Given the description of an element on the screen output the (x, y) to click on. 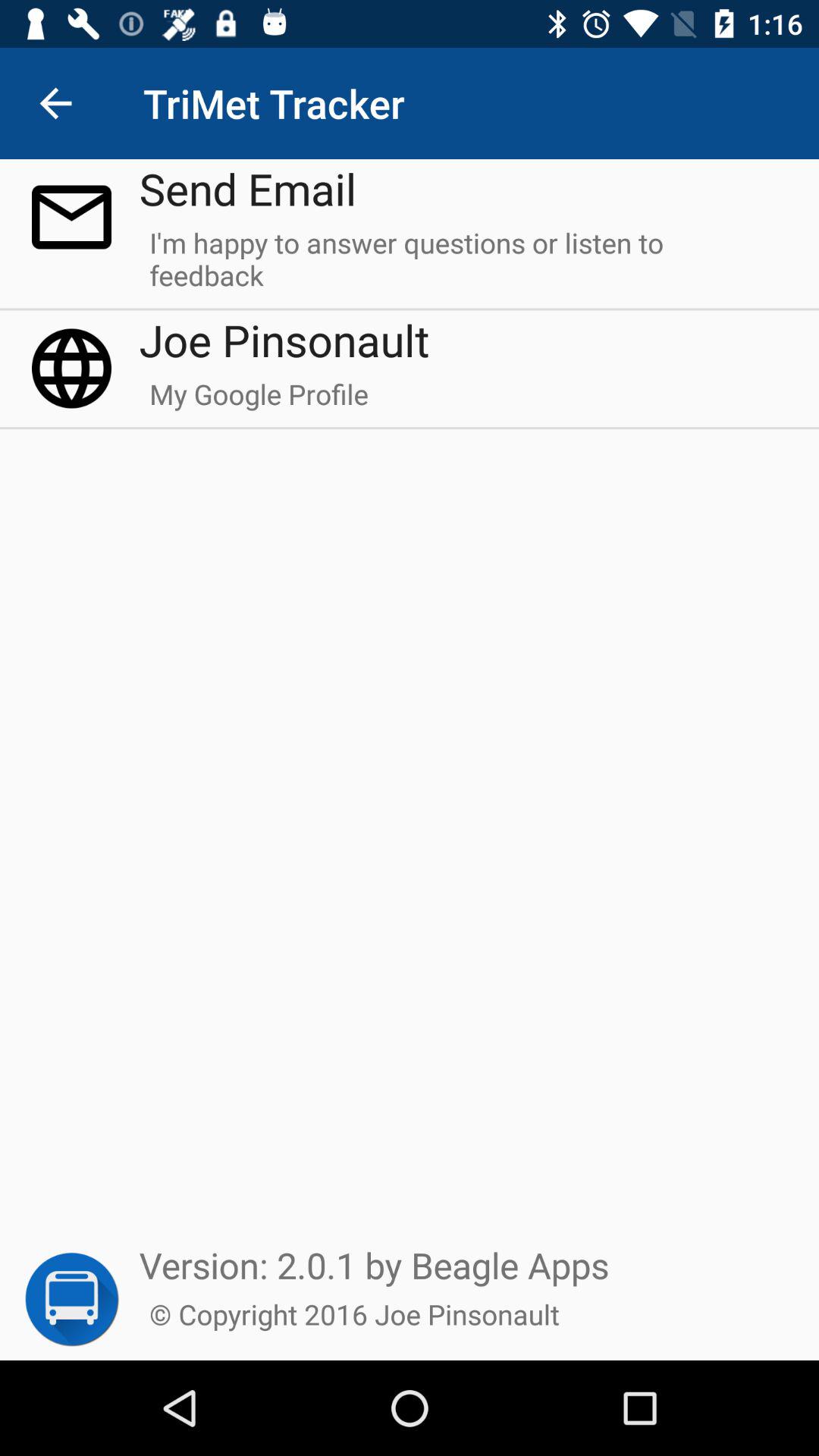
scroll until send email item (247, 188)
